Given the description of an element on the screen output the (x, y) to click on. 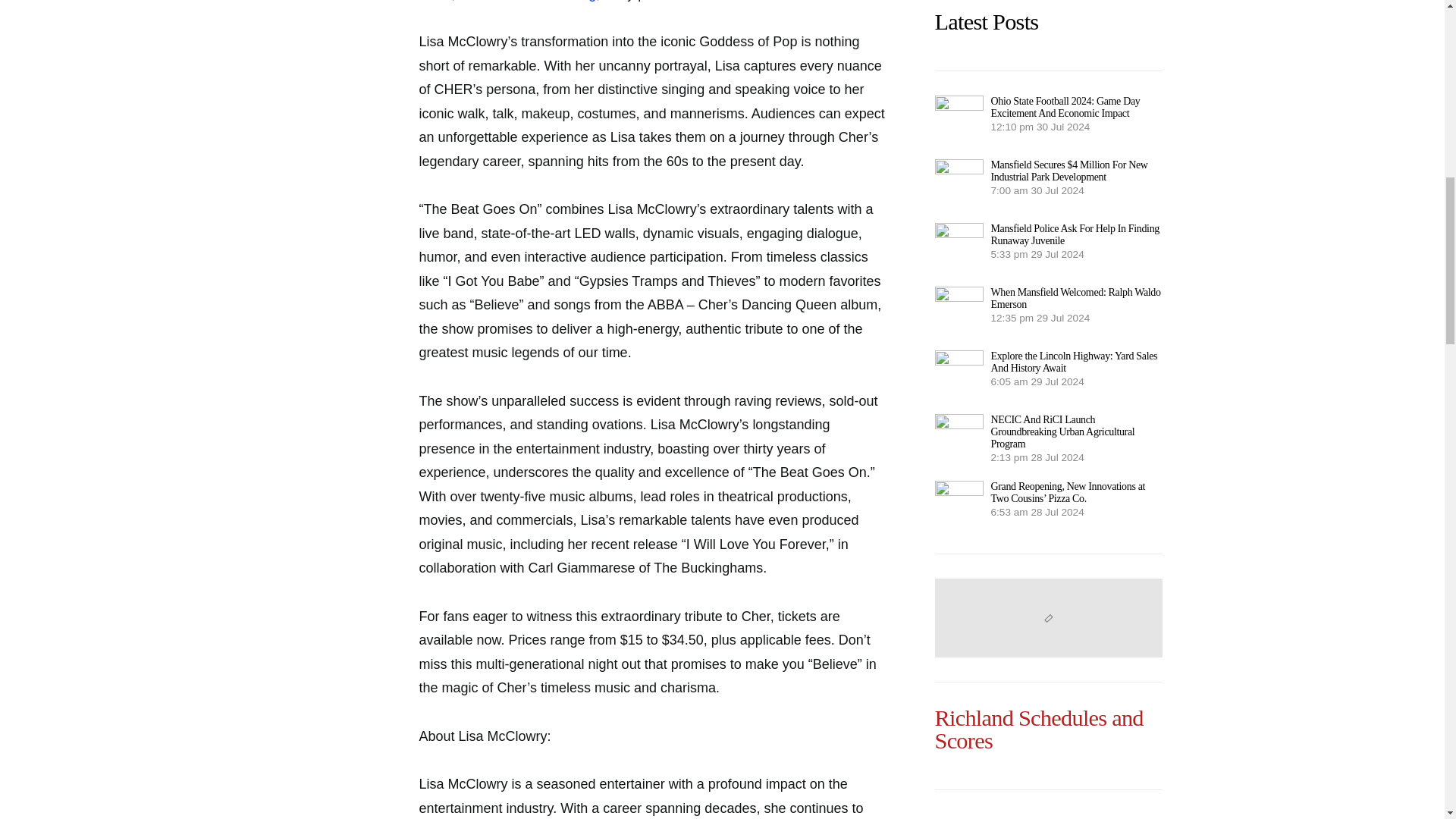
rentickets.org (554, 0)
